Given the description of an element on the screen output the (x, y) to click on. 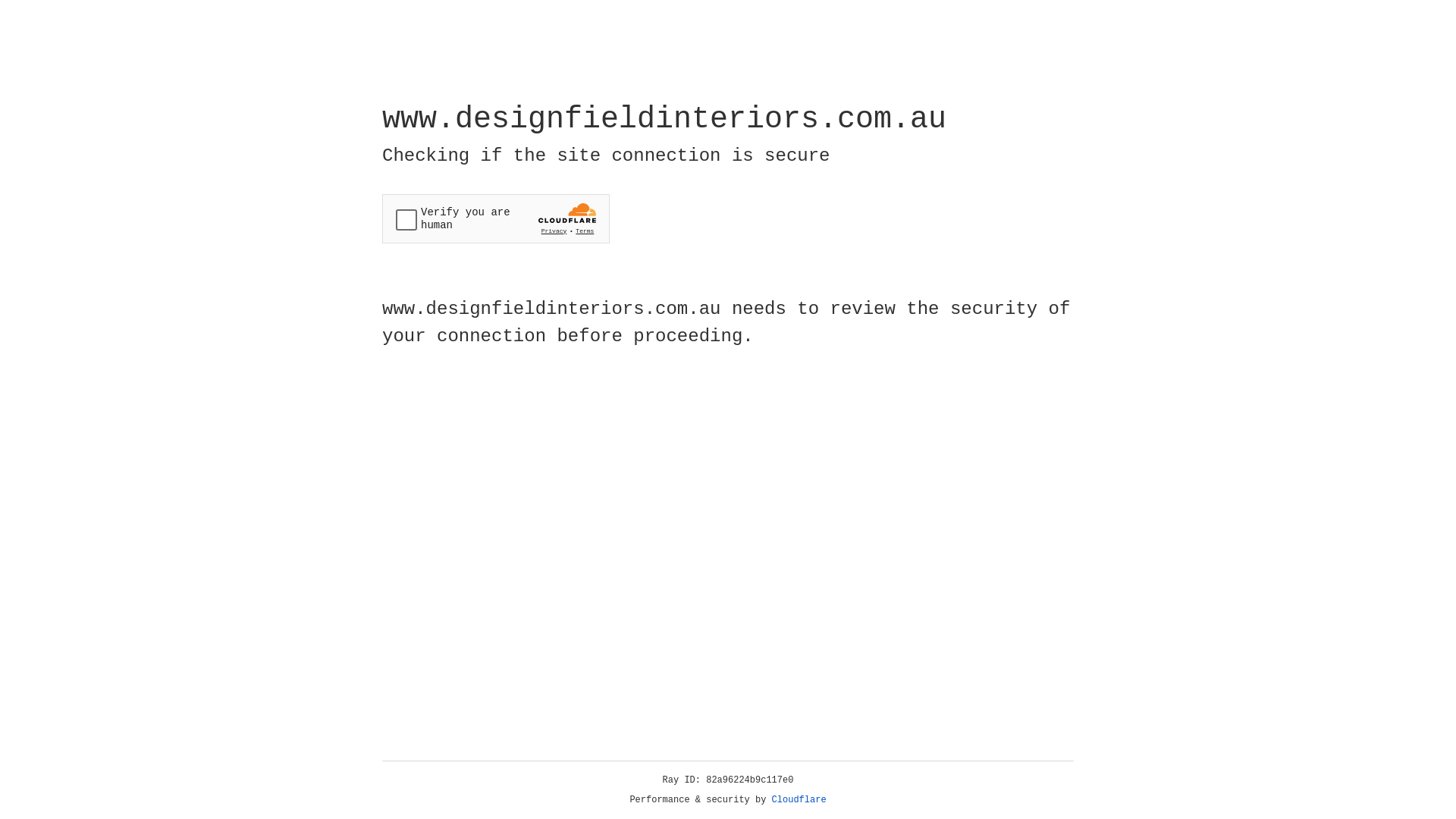
Widget containing a Cloudflare security challenge Element type: hover (495, 218)
Cloudflare Element type: text (798, 799)
